Given the description of an element on the screen output the (x, y) to click on. 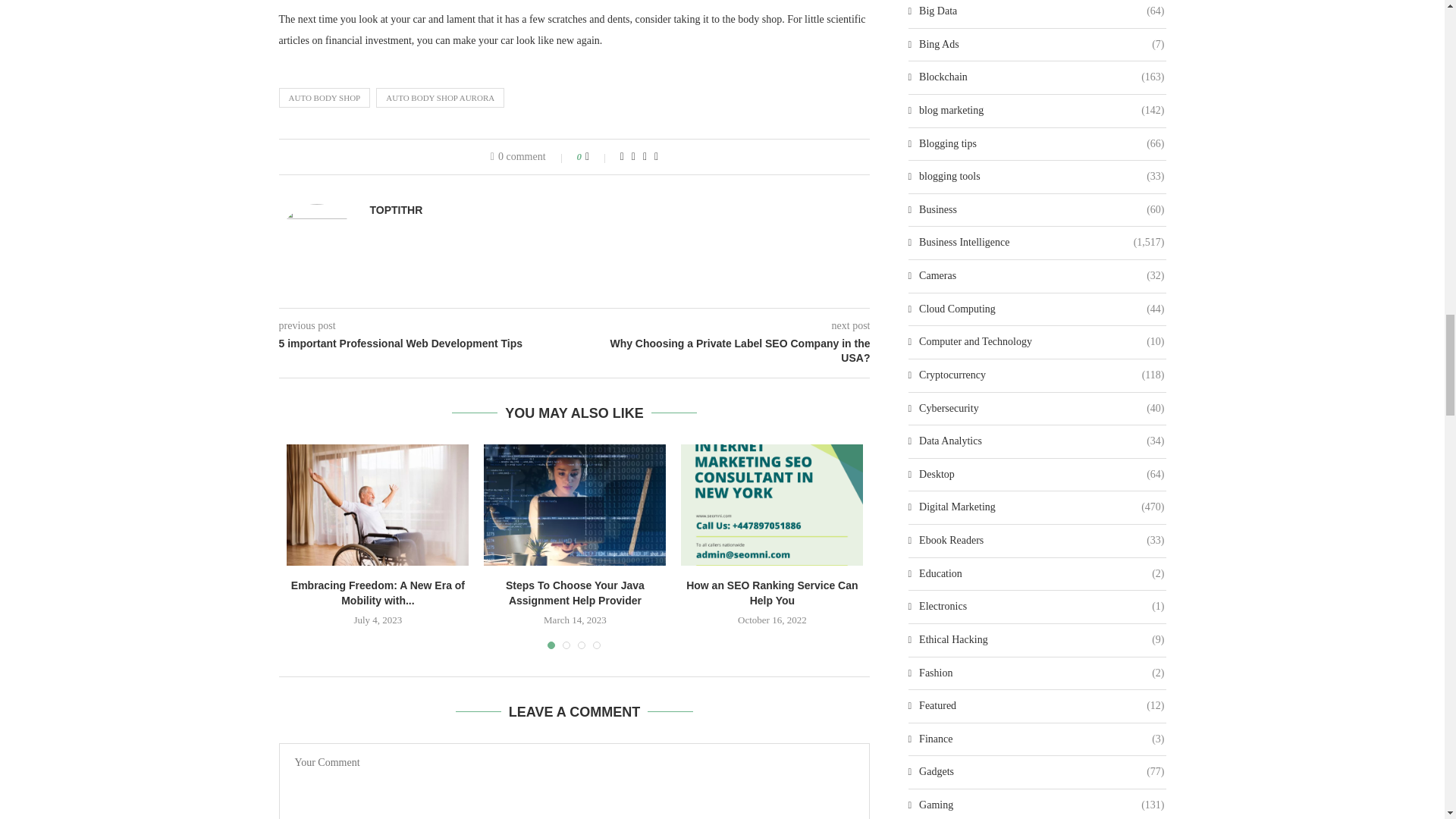
5 important Professional Web Development Tips (427, 344)
How an SEO Ranking Service Can Help You (772, 504)
Why Choosing a Private Label SEO Company in the USA? (722, 351)
AUTO BODY SHOP AURORA (439, 97)
Steps To Choose Your Java Assignment Help Provider (574, 504)
Author toptithr (396, 209)
AUTO BODY SHOP (325, 97)
Like (597, 156)
TOPTITHR (396, 209)
